Given the description of an element on the screen output the (x, y) to click on. 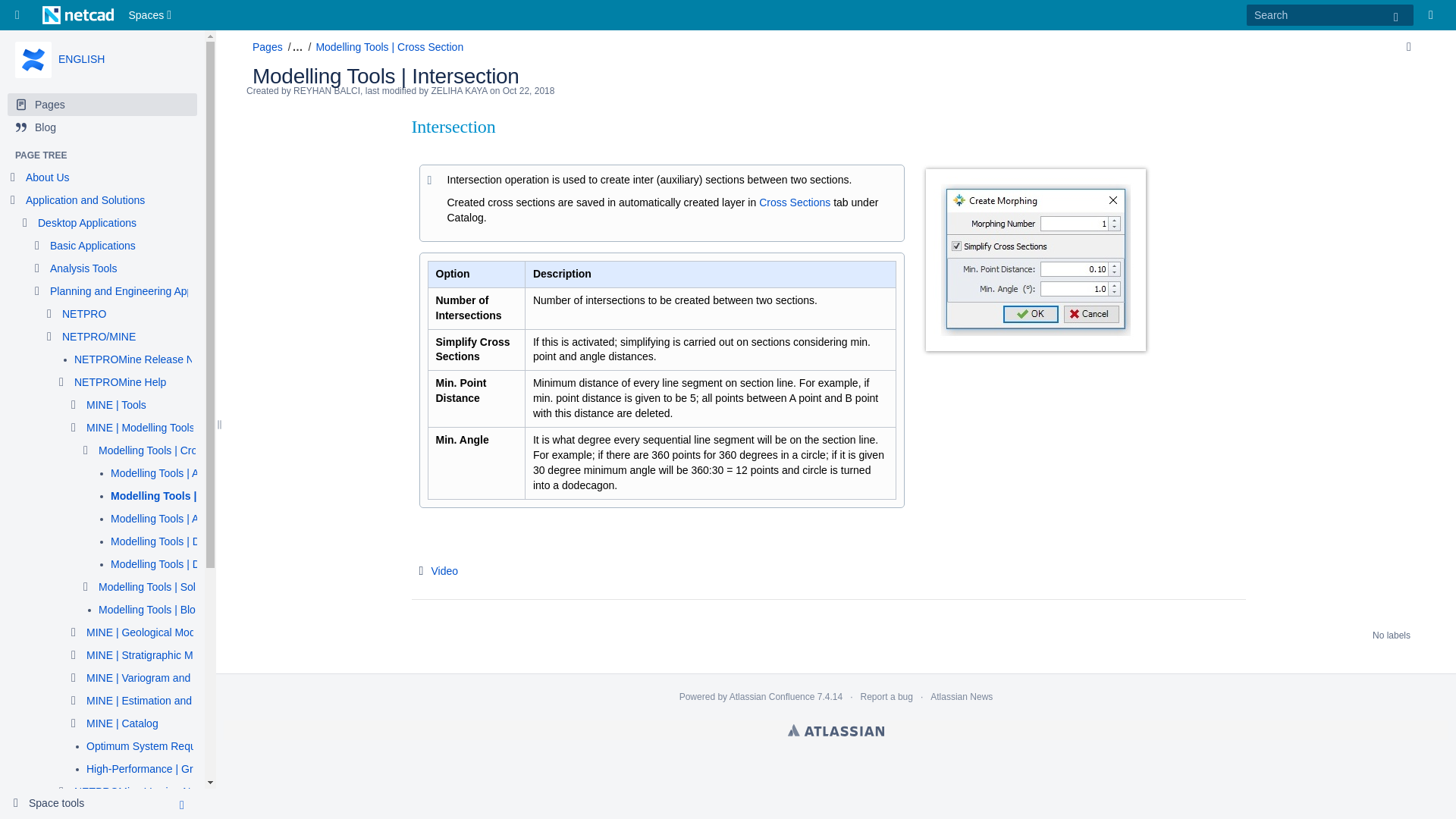
ENGLISH (81, 59)
Application and Solutions (85, 200)
Help (1434, 15)
Spaces (151, 15)
Pages (101, 104)
Linked Applications (20, 15)
About Us (47, 177)
NETPROMine Release Notes (144, 359)
Help (1434, 15)
ENGLISH (81, 59)
Basic Applications (92, 246)
Analysis Tools (82, 268)
Spaces (151, 15)
Desktop Applications (86, 223)
Blog (101, 127)
